Given the description of an element on the screen output the (x, y) to click on. 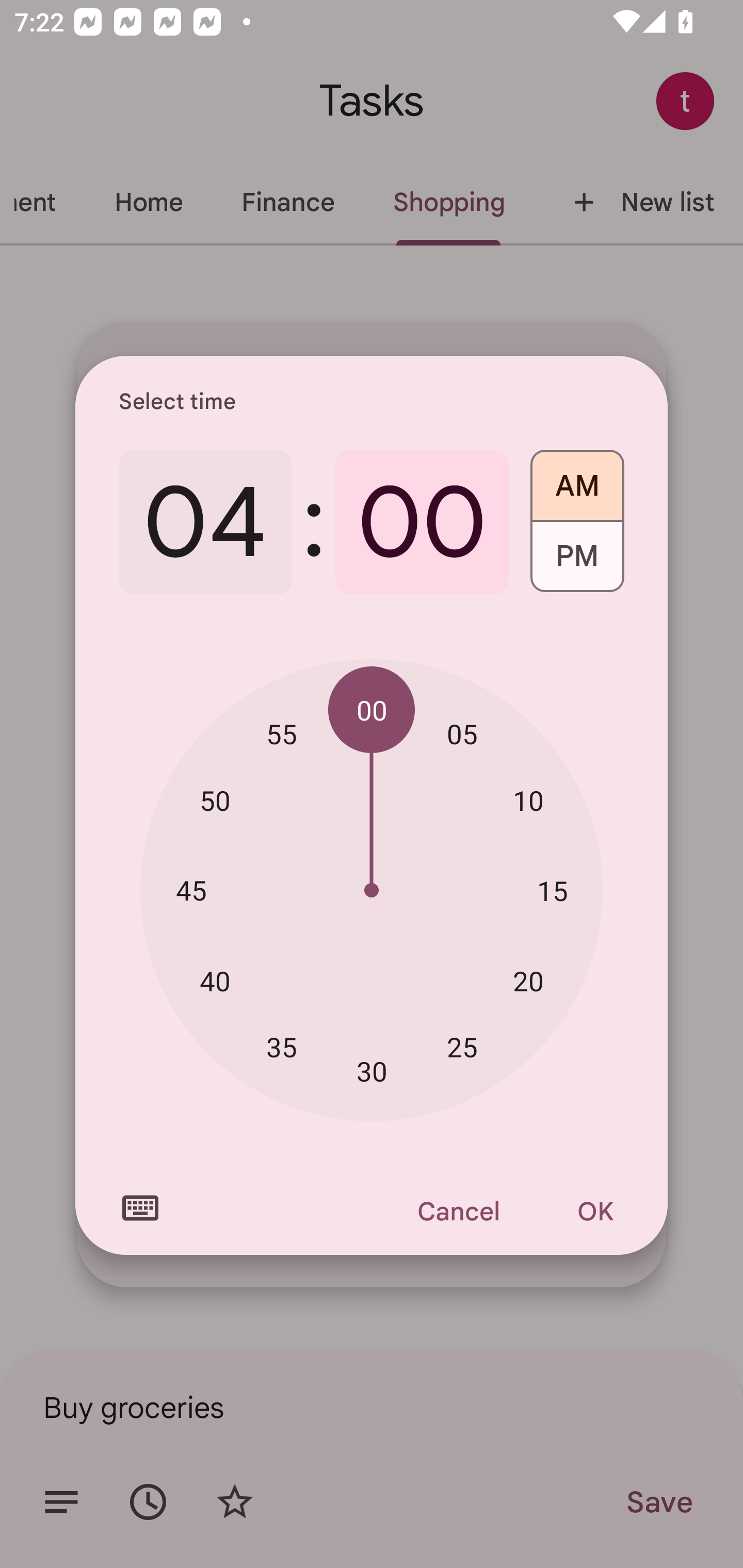
AM (577, 478)
04 4 o'clock (204, 522)
00 0 minutes (421, 522)
PM (577, 563)
00 00 minutes (371, 710)
55 55 minutes (281, 733)
05 05 minutes (462, 733)
50 50 minutes (214, 800)
10 10 minutes (528, 800)
45 45 minutes (190, 889)
15 15 minutes (551, 890)
40 40 minutes (214, 980)
20 20 minutes (528, 980)
35 35 minutes (281, 1046)
25 25 minutes (462, 1046)
30 30 minutes (371, 1071)
Switch to text input mode for the time input. (140, 1208)
Cancel (458, 1211)
OK (595, 1211)
